Given the description of an element on the screen output the (x, y) to click on. 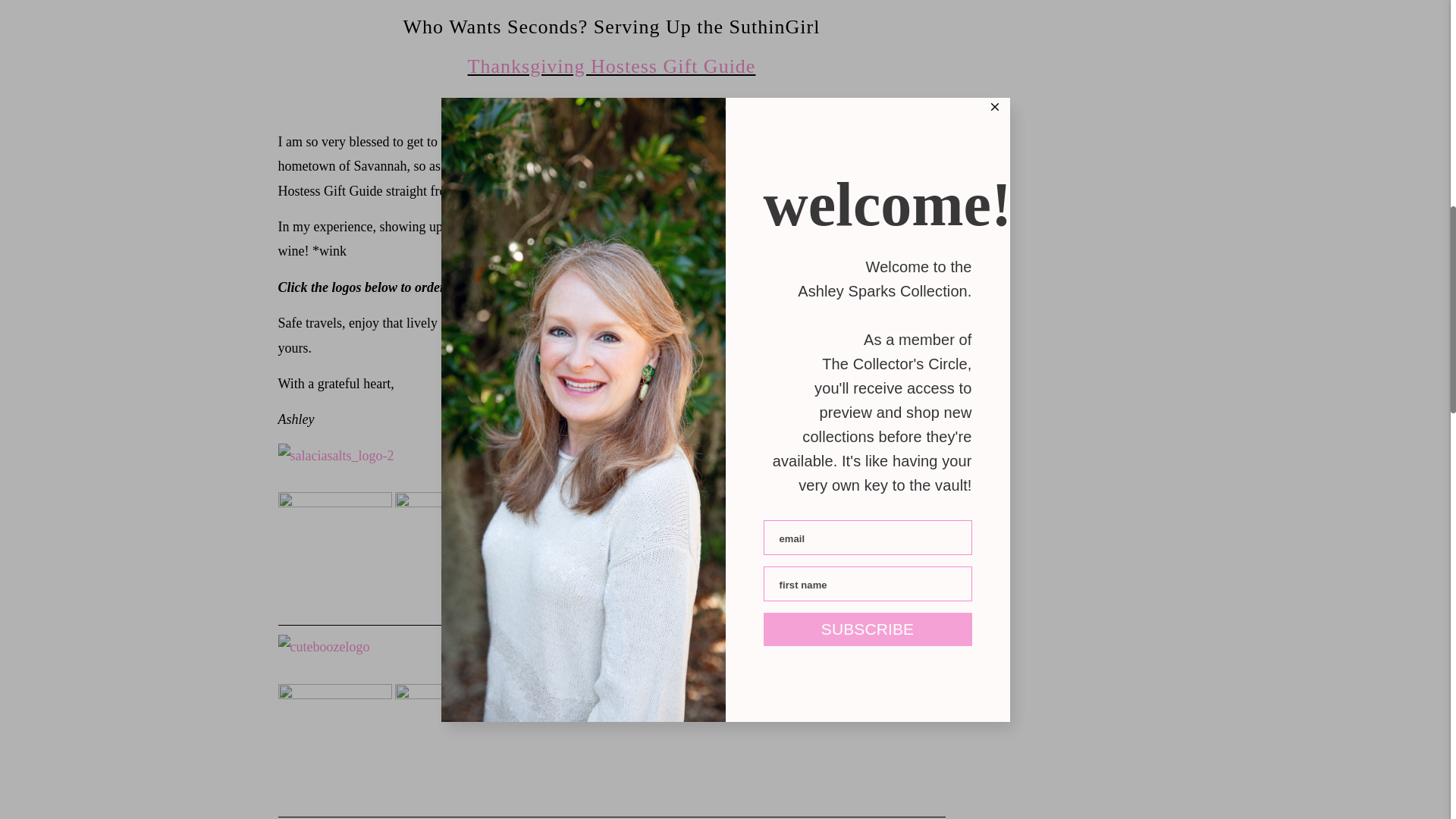
Thanksgiving Hostess Gift Guide (611, 65)
